Given the description of an element on the screen output the (x, y) to click on. 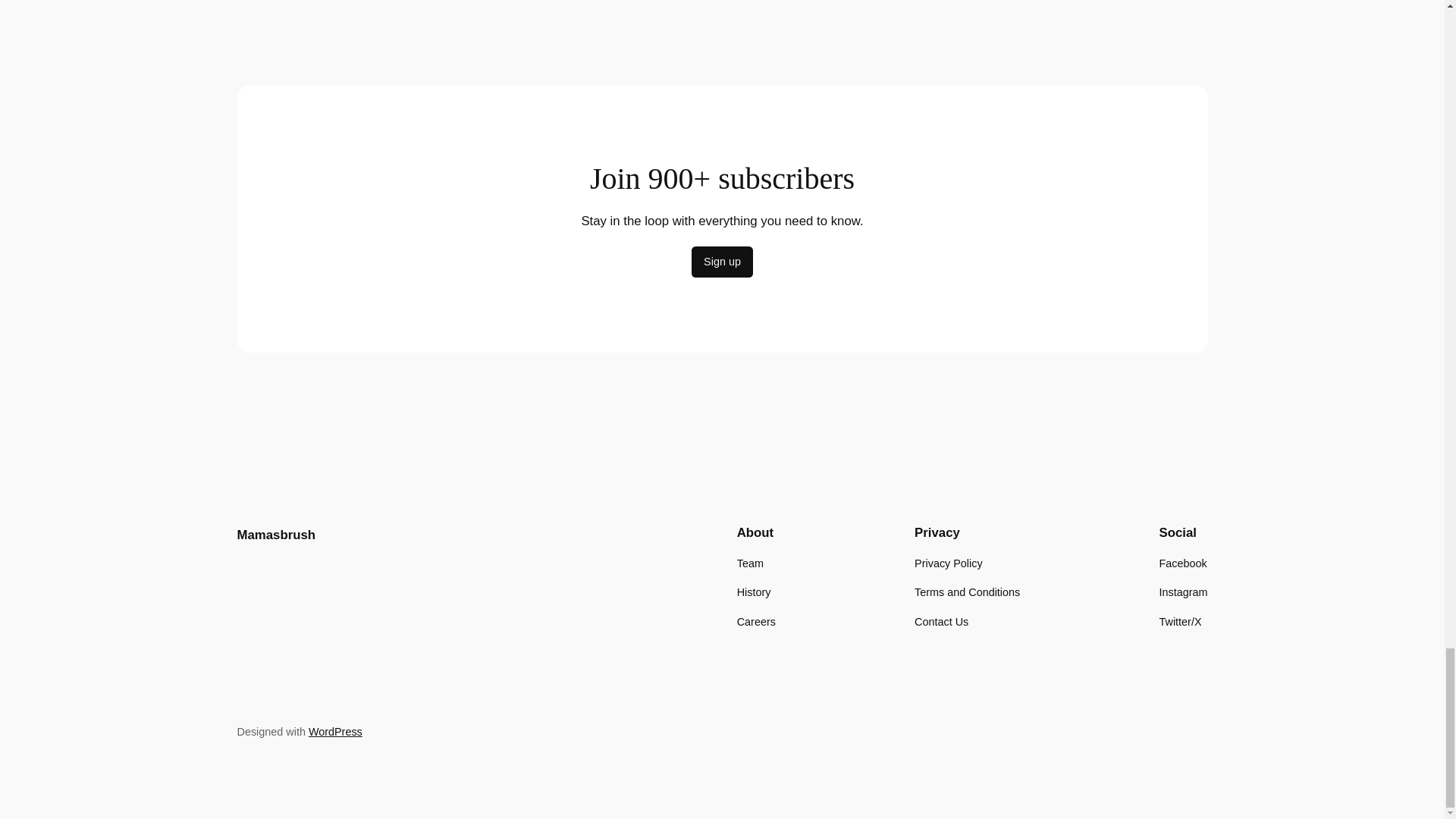
Mamasbrush (275, 534)
Instagram (1182, 591)
Sign up (721, 262)
Contact Us (941, 620)
History (753, 591)
Terms and Conditions (967, 591)
Careers (756, 620)
WordPress (335, 731)
Facebook (1182, 563)
Team (749, 563)
Privacy Policy (948, 563)
